Given the description of an element on the screen output the (x, y) to click on. 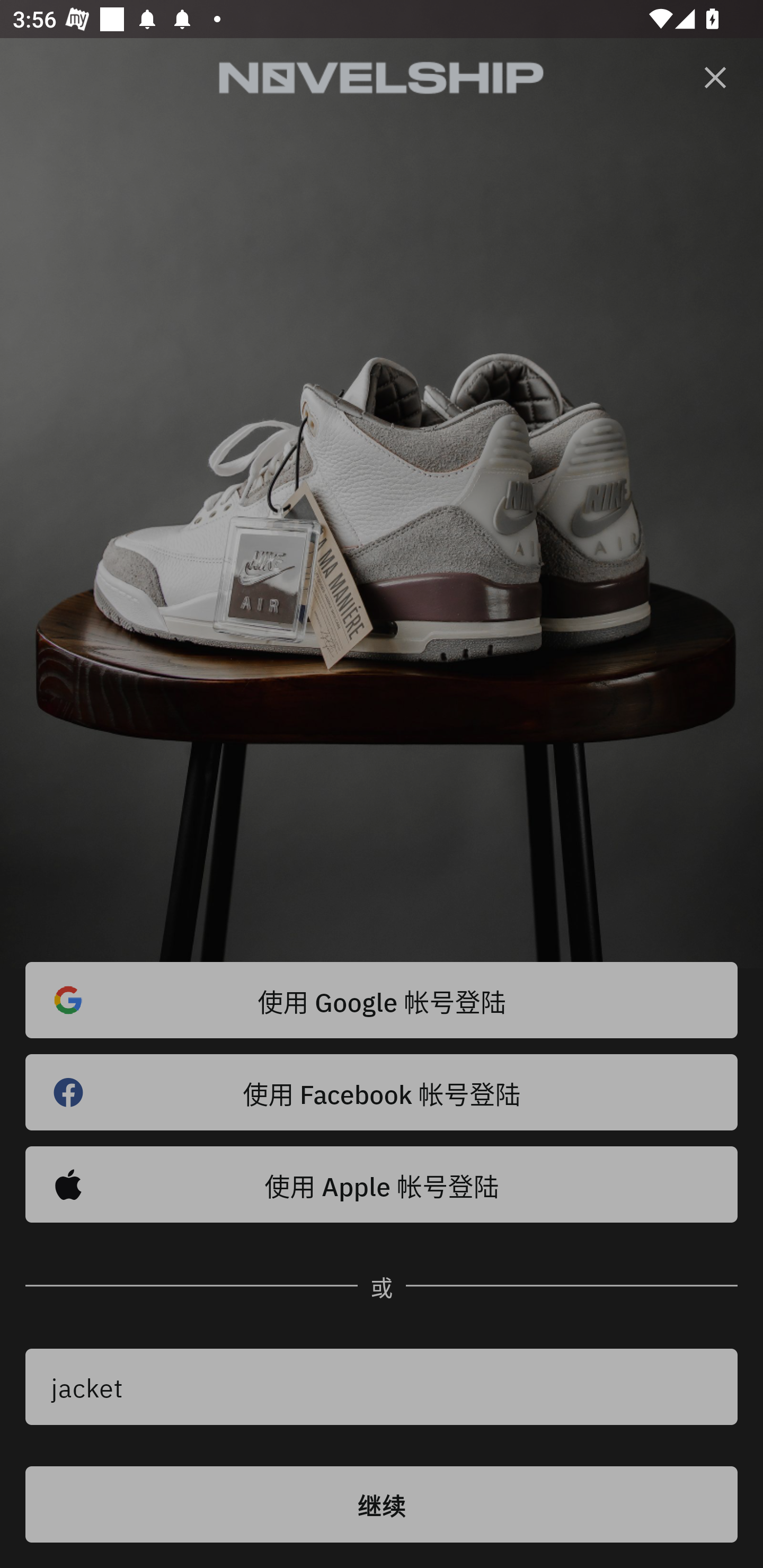
使用 Google 帐号登陆 (381, 1000)
使用 Facebook 帐号登陆 󰈌 (381, 1091)
 使用 Apple 帐号登陆 (381, 1184)
jacket (381, 1386)
继续 (381, 1504)
